Given the description of an element on the screen output the (x, y) to click on. 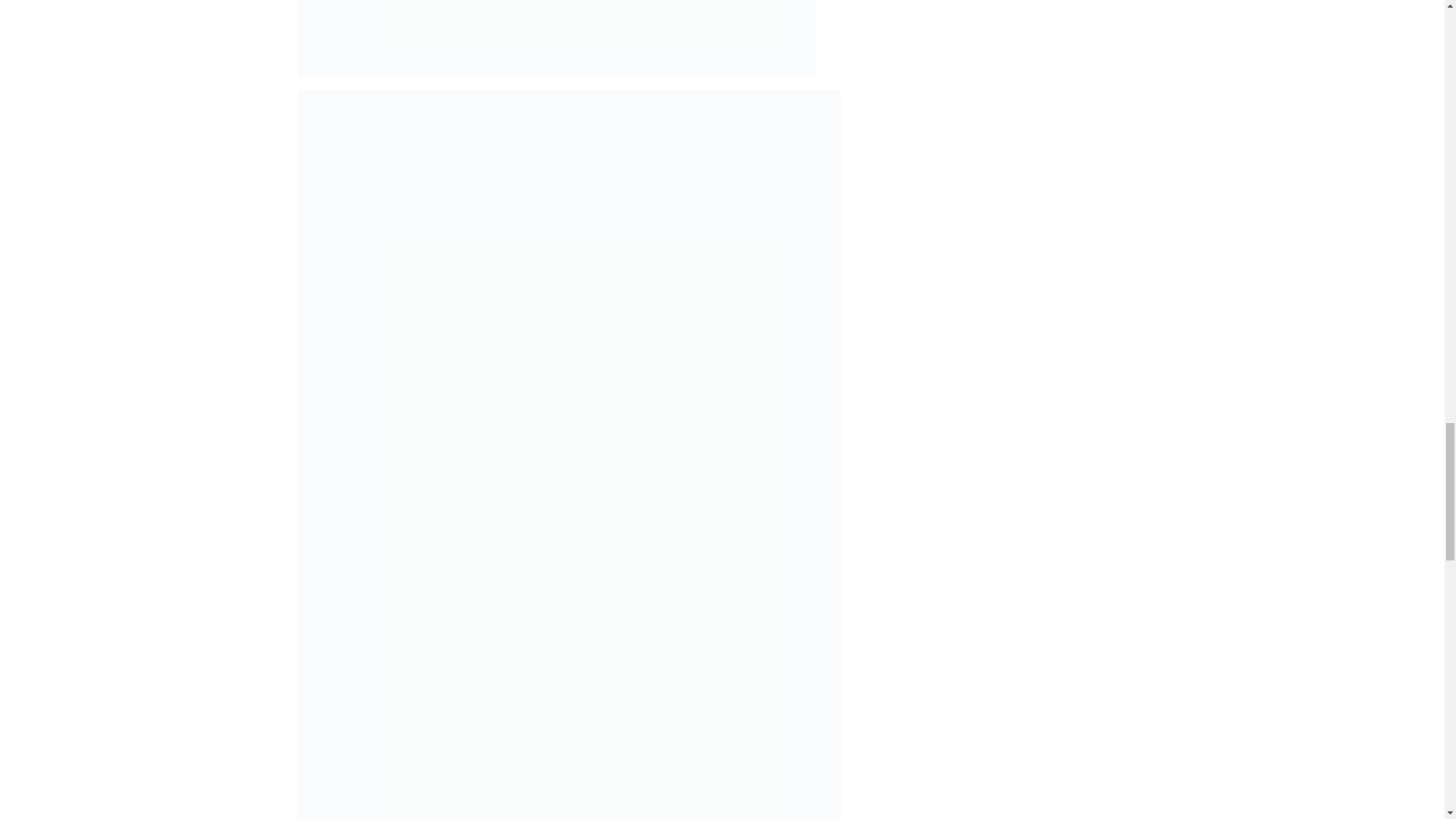
1 (556, 38)
